Given the description of an element on the screen output the (x, y) to click on. 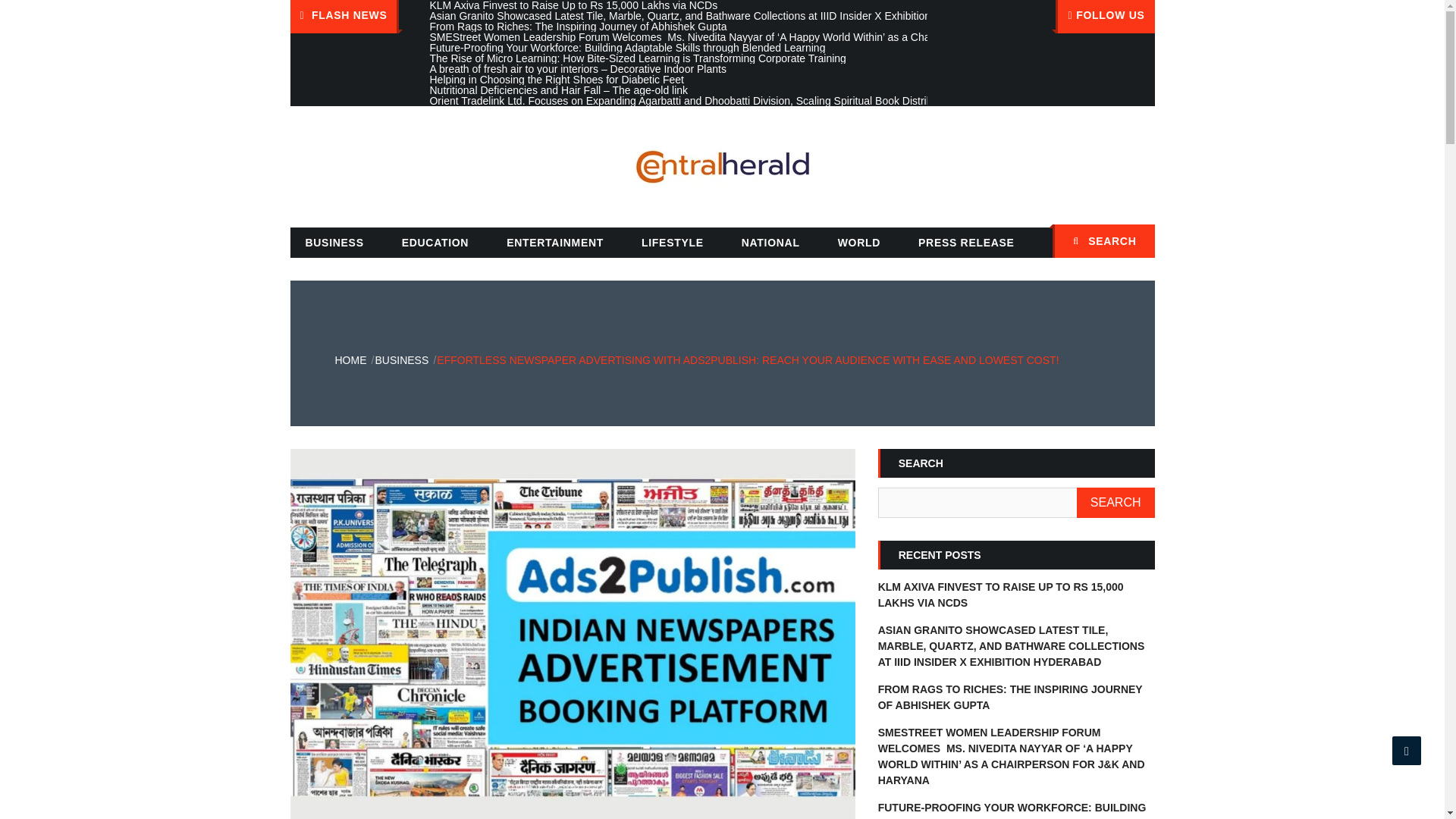
FOLLOW US (1104, 16)
FROM RAGS TO RICHES: THE INSPIRING JOURNEY OF ABHISHEK GUPTA (1009, 697)
WORLD (858, 242)
HOME (350, 359)
PRESS RELEASE (965, 242)
NATIONAL (770, 242)
ENTERTAINMENT (555, 242)
Search (1135, 242)
SEARCH (1115, 502)
LIFESTYLE (672, 242)
Go to Top (1406, 750)
BUSINESS (401, 359)
BUSINESS (333, 242)
